Given the description of an element on the screen output the (x, y) to click on. 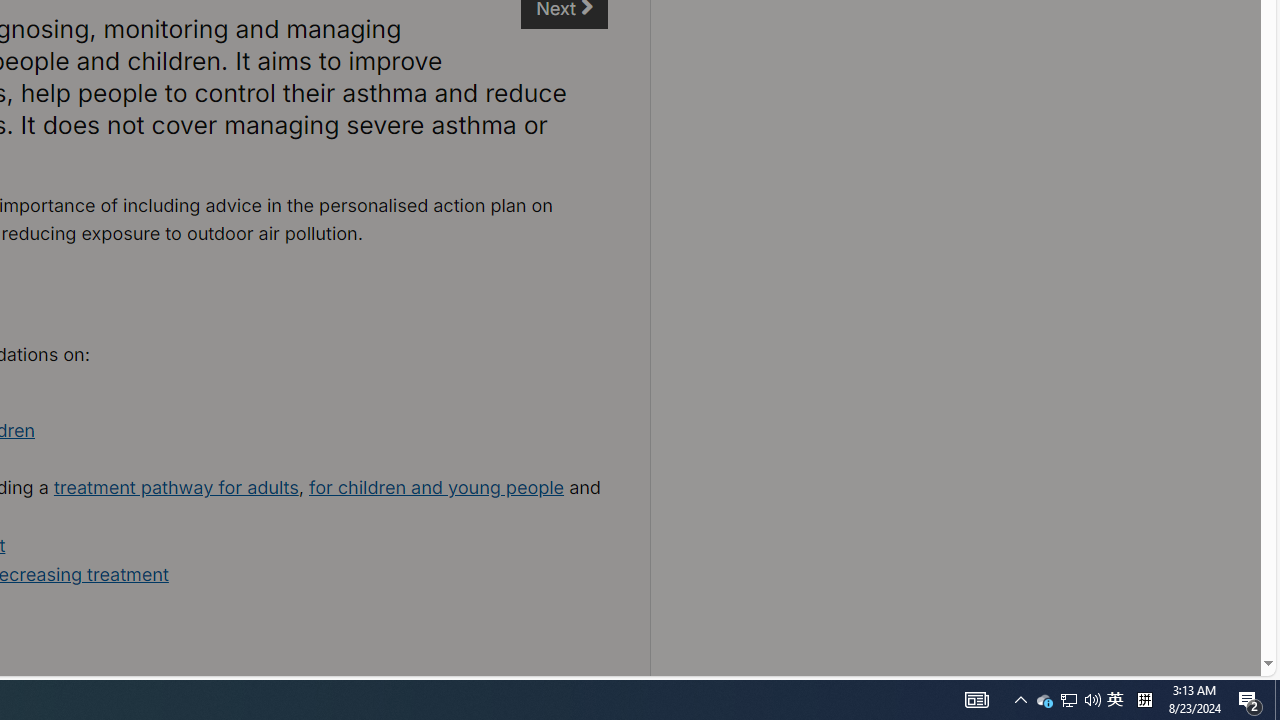
for children and young people (436, 487)
treatment pathway for adults (175, 487)
